Given the description of an element on the screen output the (x, y) to click on. 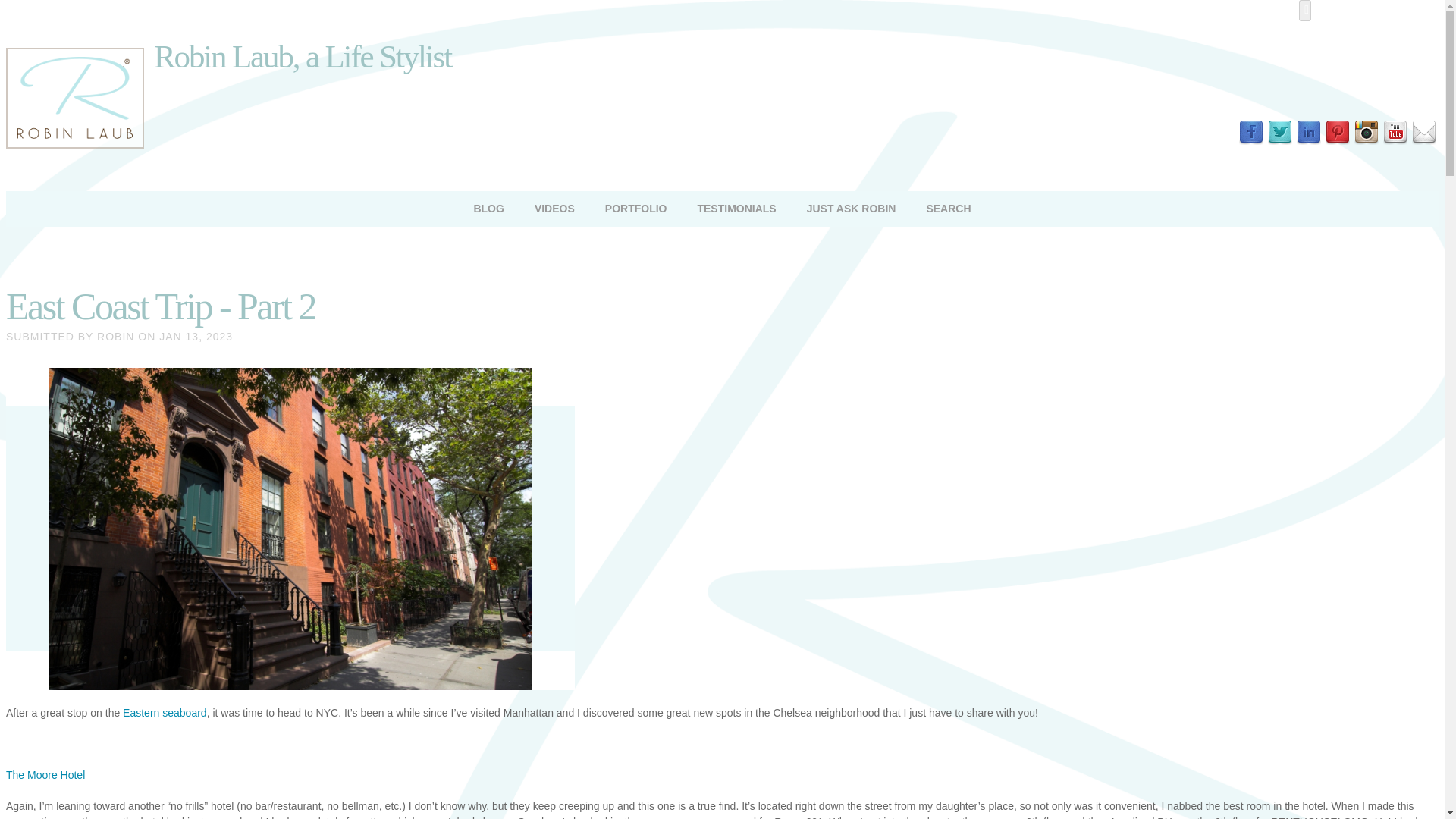
Home (74, 144)
VIDEOS (554, 208)
BLOG (488, 208)
East Coast Trip - Part 2 (160, 306)
Instagram (1366, 132)
SEARCH (948, 208)
PORTFOLIO (635, 208)
Facebook (1251, 132)
Eastern seaboard (164, 712)
Twitter (1280, 132)
TESTIMONIALS (735, 208)
The Moore Hotel (44, 775)
LinkedIn (1308, 132)
Pinterest (1336, 132)
